Given the description of an element on the screen output the (x, y) to click on. 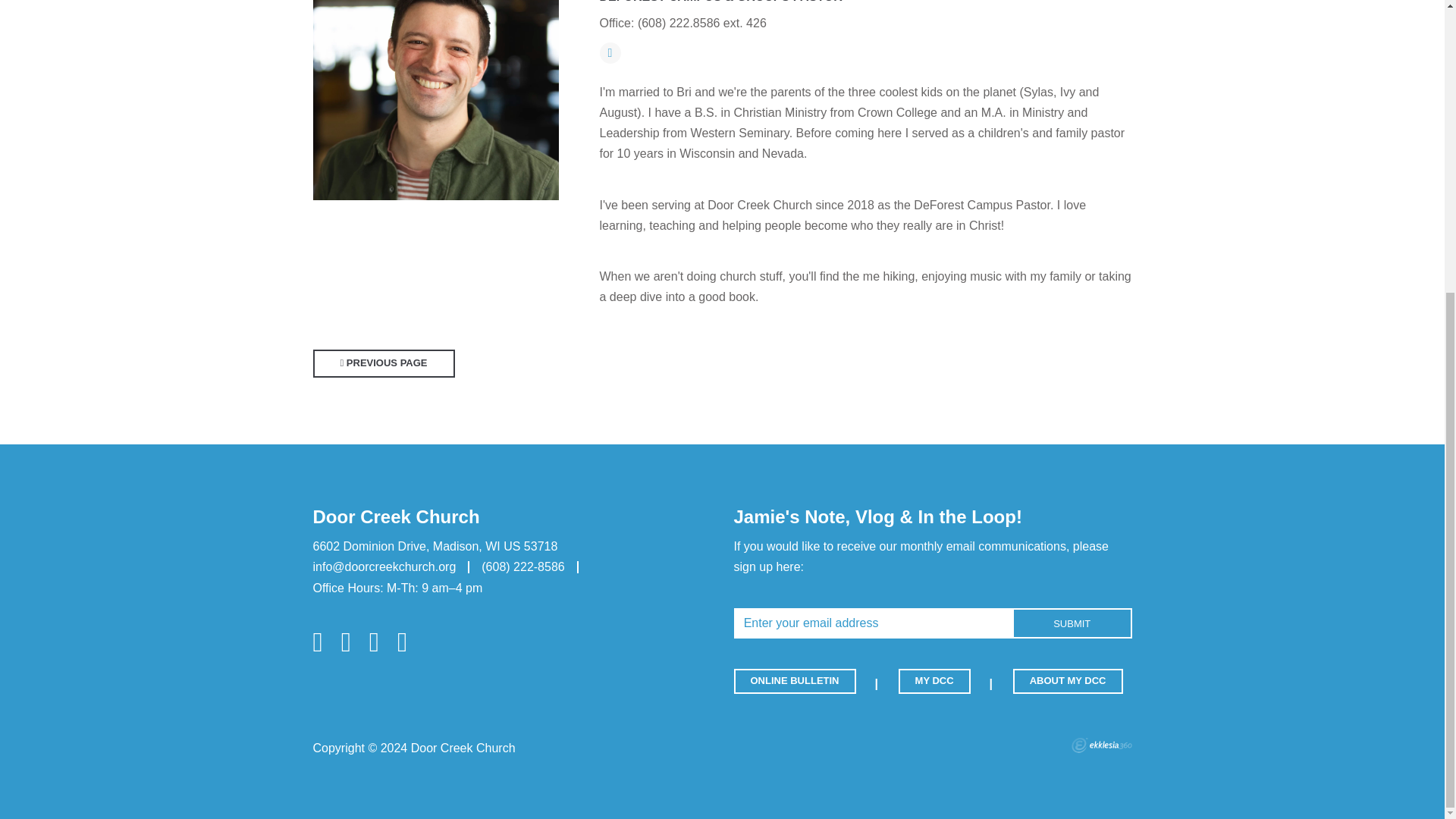
Enter your email address (873, 623)
Submit (1071, 623)
Email (609, 52)
